Given the description of an element on the screen output the (x, y) to click on. 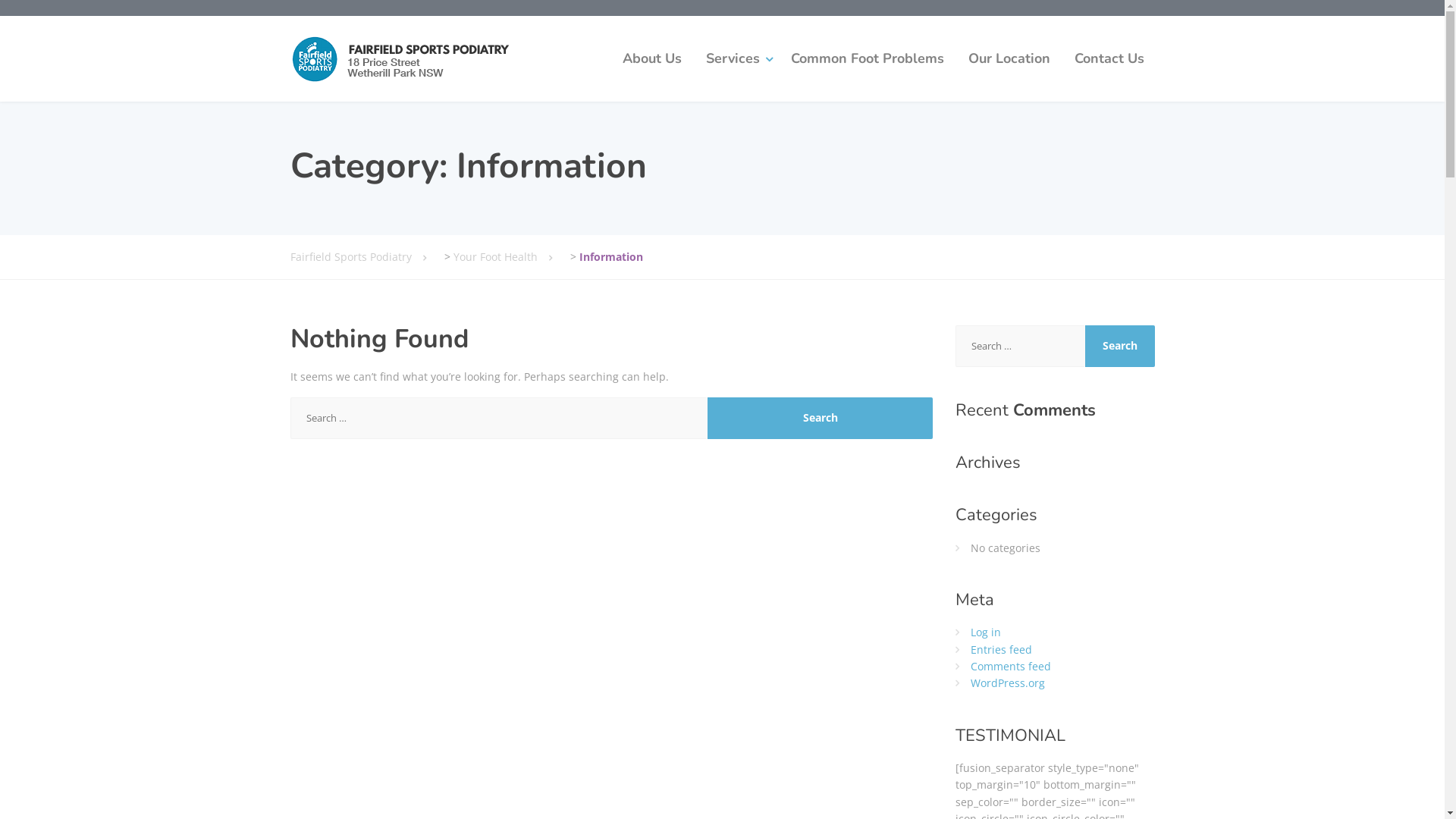
Contact Us Element type: text (1108, 58)
Fairfield Sports Podiatry Element type: hover (403, 58)
Fairfield Sports Podiatry Element type: text (364, 257)
Search Element type: text (819, 418)
Entries feed Element type: text (1001, 649)
Common Foot Problems Element type: text (866, 58)
Log in Element type: text (985, 631)
Your Foot Health Element type: text (510, 257)
About Us Element type: text (651, 58)
WordPress.org Element type: text (1007, 682)
Our Location Element type: text (1008, 58)
Services Element type: text (735, 58)
Search Element type: text (1119, 346)
Comments feed Element type: text (1010, 665)
